Given the description of an element on the screen output the (x, y) to click on. 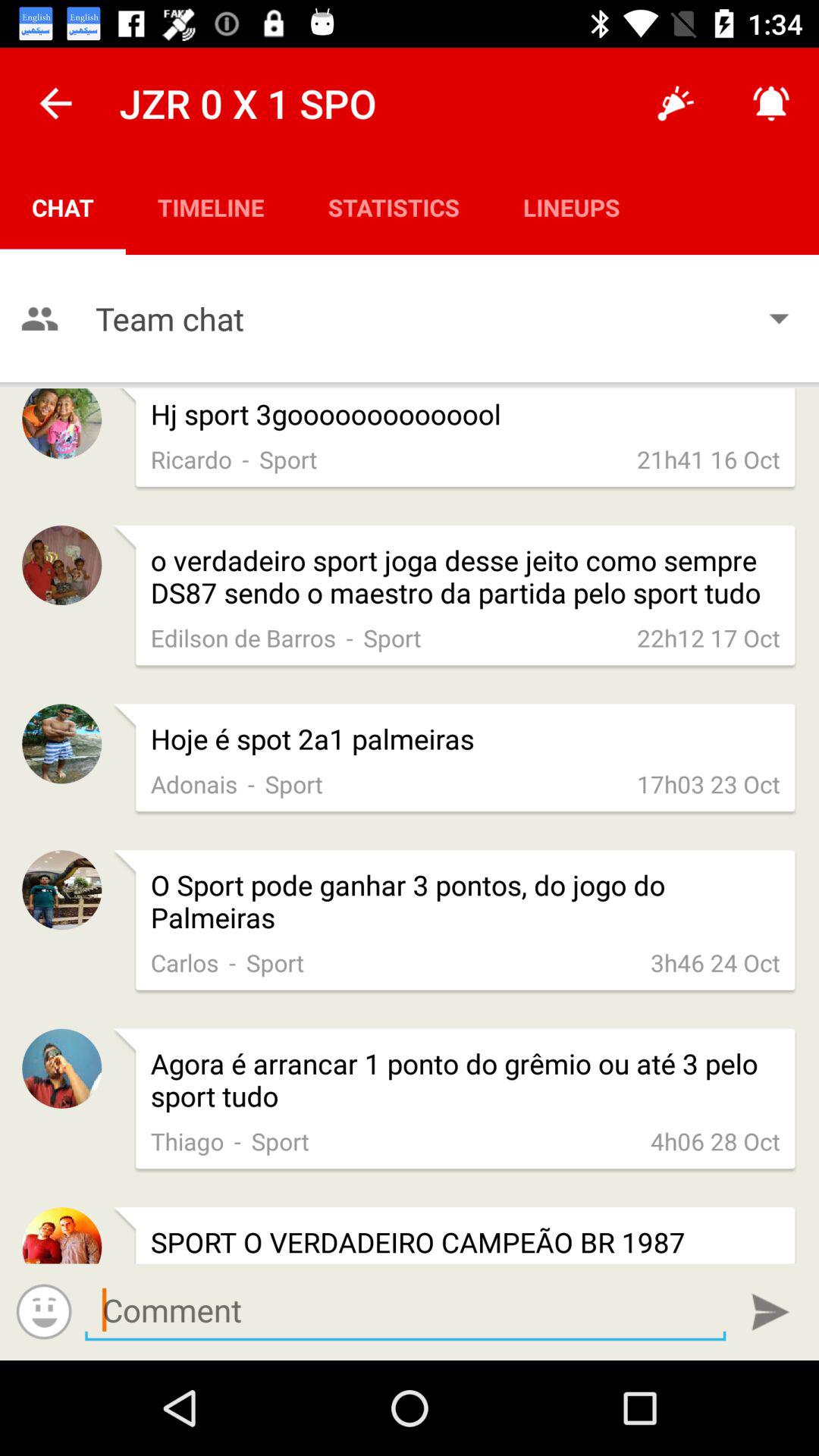
turn on the icon next to the timeline icon (393, 206)
